Given the description of an element on the screen output the (x, y) to click on. 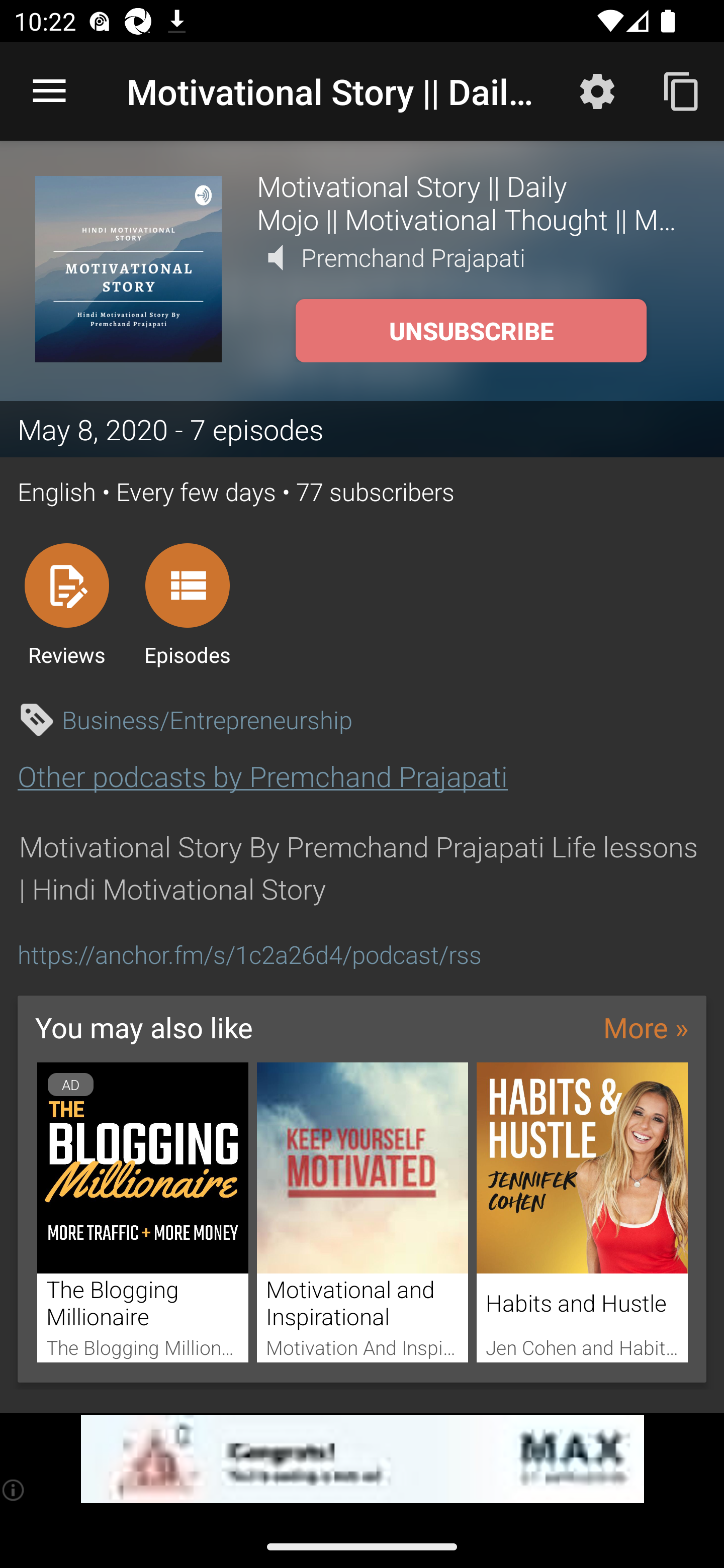
Open navigation sidebar (49, 91)
Settings (597, 90)
Copy feed url to clipboard (681, 90)
UNSUBSCRIBE (470, 330)
Reviews (66, 604)
Episodes (187, 604)
Other podcasts by Premchand Prajapati (262, 775)
More » (645, 1026)
Habits and Hustle Jen Cohen and Habit Nest (581, 1212)
app-monetization (362, 1459)
(i) (14, 1489)
